Given the description of an element on the screen output the (x, y) to click on. 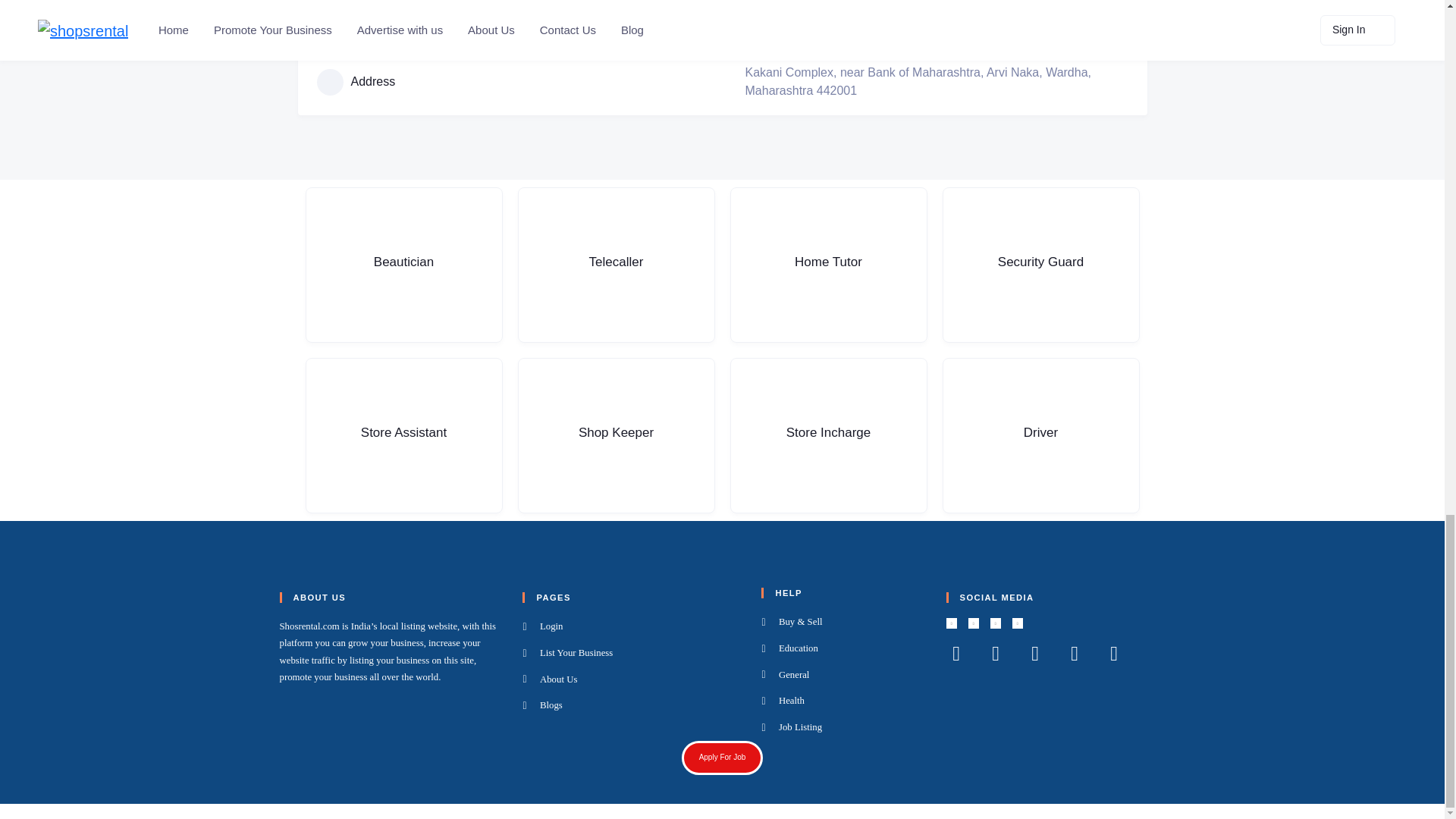
About Us (631, 679)
Health (843, 701)
Store Assistant (403, 435)
Beautician (403, 265)
Telecaller (615, 265)
Shop Keeper (615, 435)
General (843, 675)
Job Listing (843, 728)
Blogs (631, 705)
Store Incharge (827, 435)
Education (843, 648)
Login (631, 627)
List Your Business (631, 653)
Driver (1040, 435)
Home Tutor (827, 265)
